Given the description of an element on the screen output the (x, y) to click on. 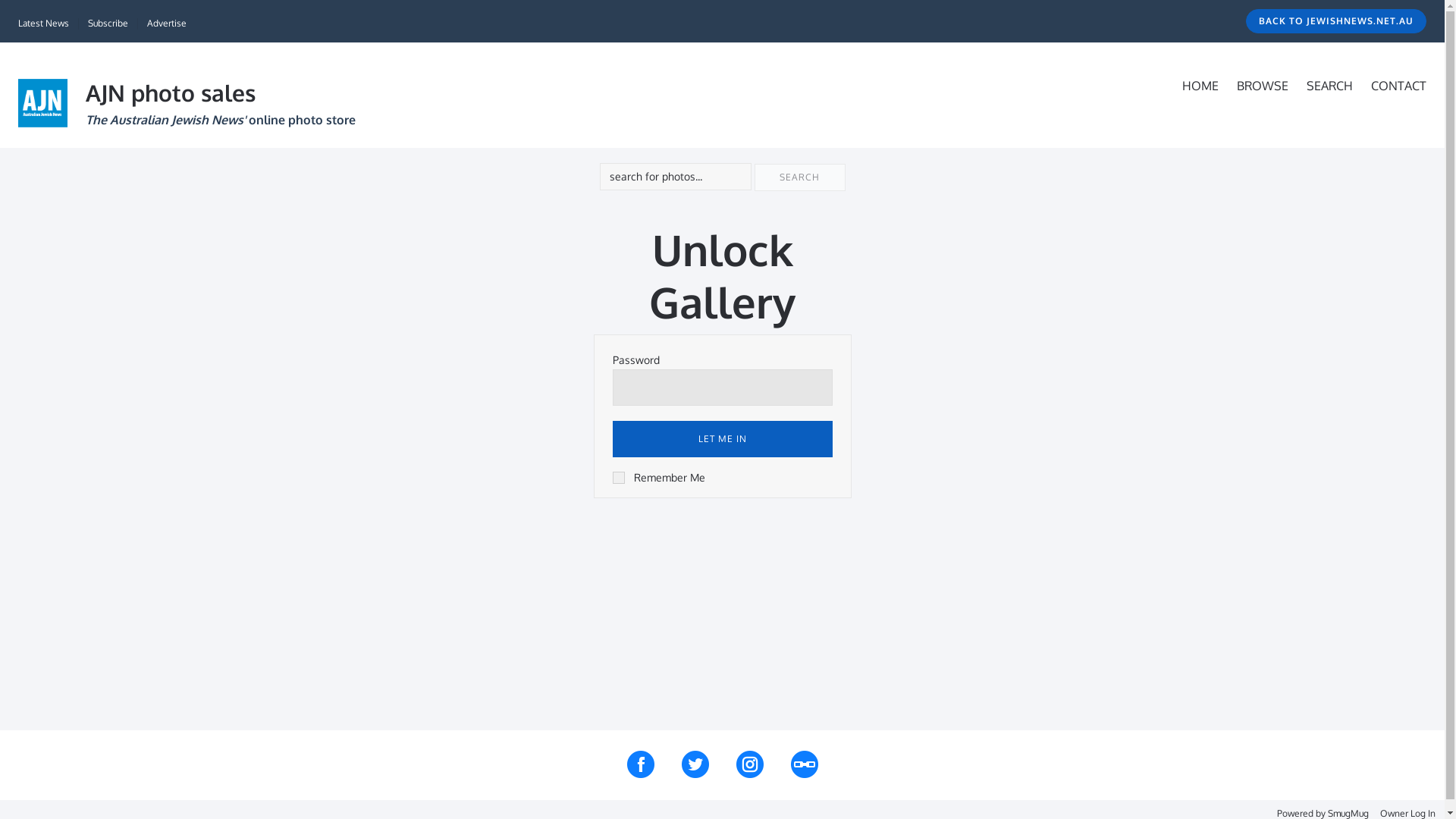
SEARCH Element type: text (1329, 85)
AJN photo sales Element type: text (170, 92)
Subscribe Element type: text (107, 22)
Remember Me Element type: text (658, 477)
LET ME IN Element type: text (722, 438)
CONTACT Element type: text (1398, 85)
HOME Element type: text (1200, 85)
Advertise Element type: text (166, 22)
SEARCH Element type: text (798, 177)
BROWSE Element type: text (1262, 85)
BACK TO JEWISHNEWS.NET.AU Element type: text (1335, 21)
Latest News Element type: text (43, 22)
